Given the description of an element on the screen output the (x, y) to click on. 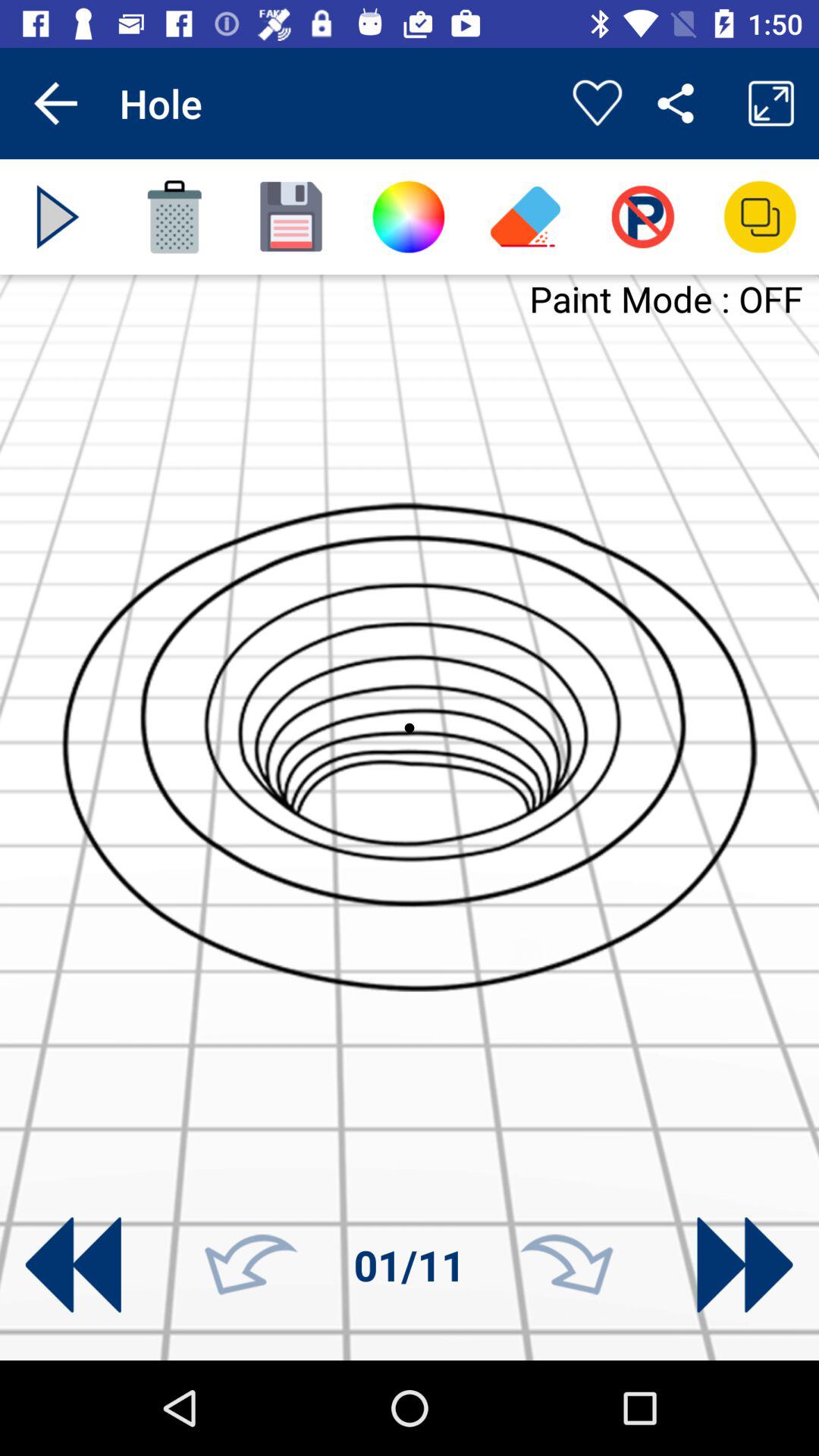
play the music (58, 216)
